Given the description of an element on the screen output the (x, y) to click on. 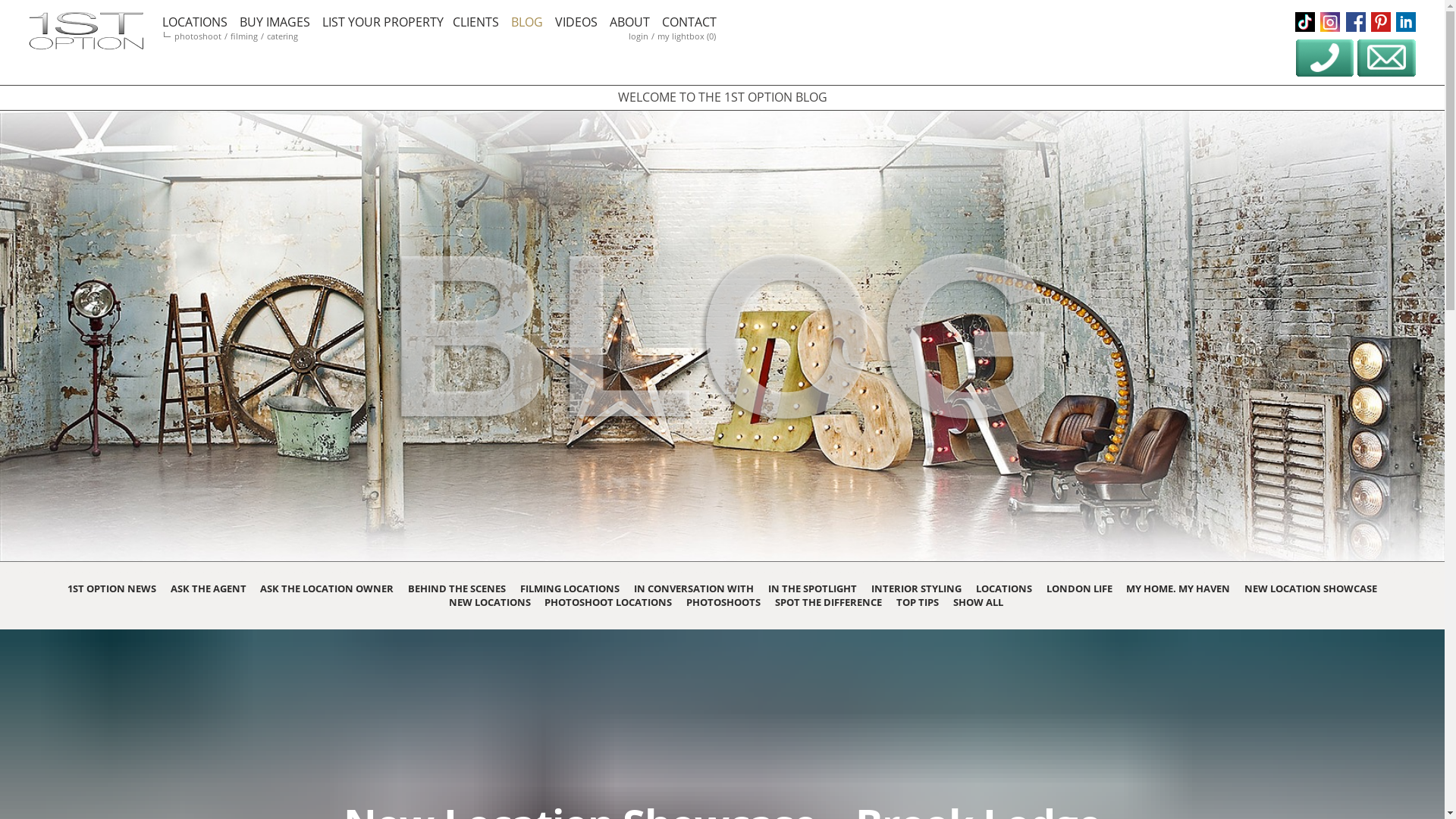
CLIENTS Element type: text (475, 21)
instagram Element type: text (1329, 21)
IN CONVERSATION WITH Element type: text (693, 588)
PHOTOSHOOTS Element type: text (723, 602)
BLOG Element type: text (526, 21)
ASK THE AGENT Element type: text (208, 588)
FILMING LOCATIONS Element type: text (569, 588)
TOP TIPS Element type: text (917, 602)
ASK THE LOCATION OWNER Element type: text (326, 588)
IN THE SPOTLIGHT Element type: text (812, 588)
BEHIND THE SCENES Element type: text (456, 588)
VIDEOS Element type: text (576, 21)
LOCATIONS Element type: text (1003, 588)
PHOTOSHOOT LOCATIONS Element type: text (607, 602)
LIST YOUR PROPERTY Element type: text (382, 21)
login Element type: text (638, 35)
1ST OPTION NEWS Element type: text (111, 588)
LONDON LIFE Element type: text (1079, 588)
NEW LOCATIONS Element type: text (489, 602)
catering Element type: text (282, 35)
tiktok Element type: text (1304, 21)
photoshoot Element type: text (197, 35)
SPOT THE DIFFERENCE Element type: text (828, 602)
INTERIOR STYLING Element type: text (916, 588)
MY HOME. MY HAVEN Element type: text (1178, 588)
BUY IMAGES Element type: text (274, 21)
SHOW ALL Element type: text (978, 602)
linkedin Element type: text (1405, 21)
ABOUT Element type: text (629, 21)
LOCATIONS Element type: text (194, 21)
my lightbox (0) Element type: text (686, 35)
facebook Element type: text (1355, 21)
NEW LOCATION SHOWCASE Element type: text (1310, 588)
filming Element type: text (243, 35)
CONTACT Element type: text (689, 21)
pinterest Element type: text (1380, 21)
